Given the description of an element on the screen output the (x, y) to click on. 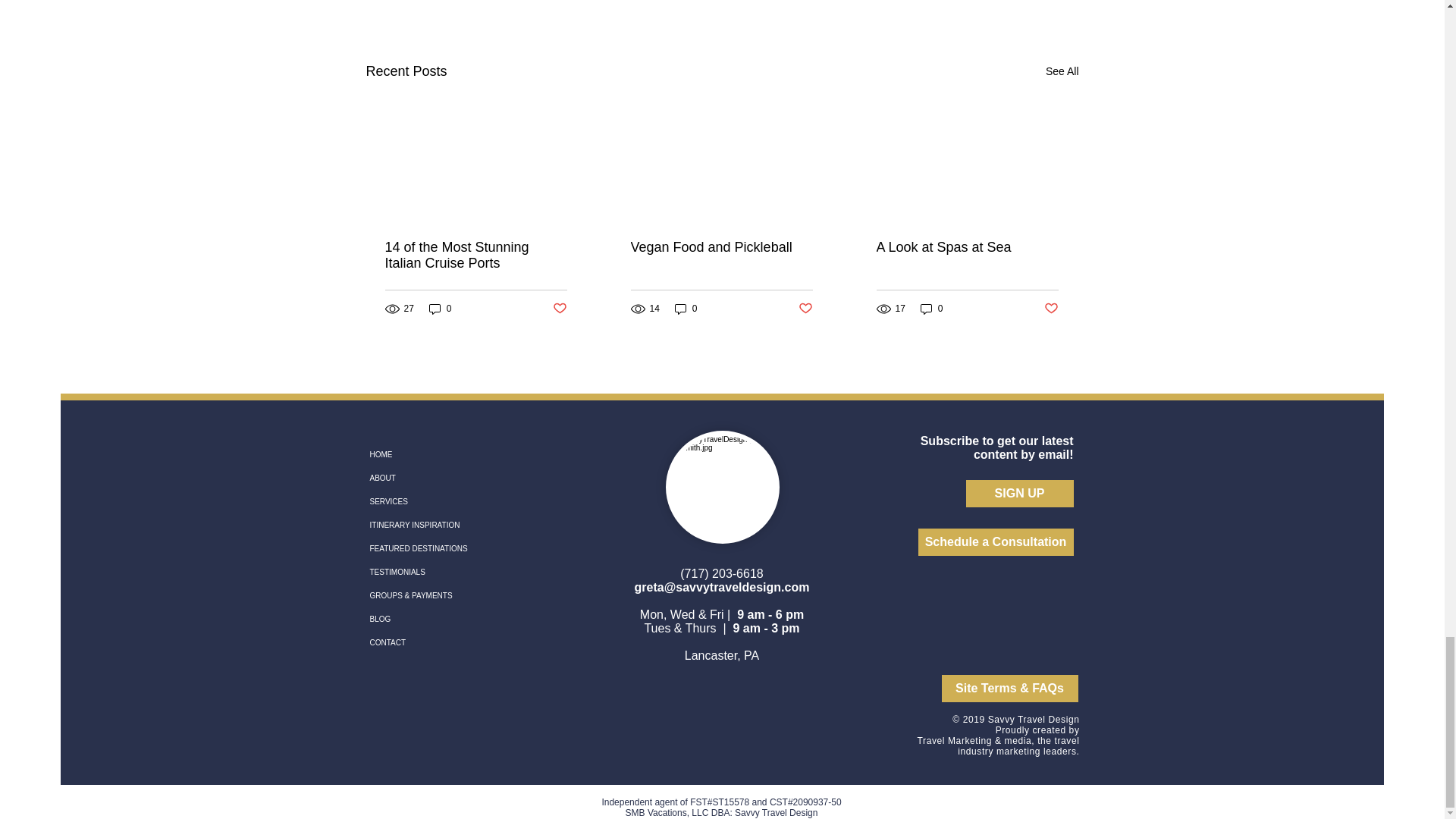
SERVICES (456, 501)
ITINERARY INSPIRATION (456, 525)
BLOG (456, 619)
14 of the Most Stunning Italian Cruise Ports (476, 255)
TESTIMONIALS (456, 572)
Post not marked as liked (804, 308)
HOME (456, 454)
Vegan Food and Pickleball (721, 247)
Post not marked as liked (558, 308)
A Look at Spas at Sea (967, 247)
CONTACT (456, 642)
0 (931, 308)
Post not marked as liked (1050, 308)
0 (685, 308)
See All (1061, 71)
